Given the description of an element on the screen output the (x, y) to click on. 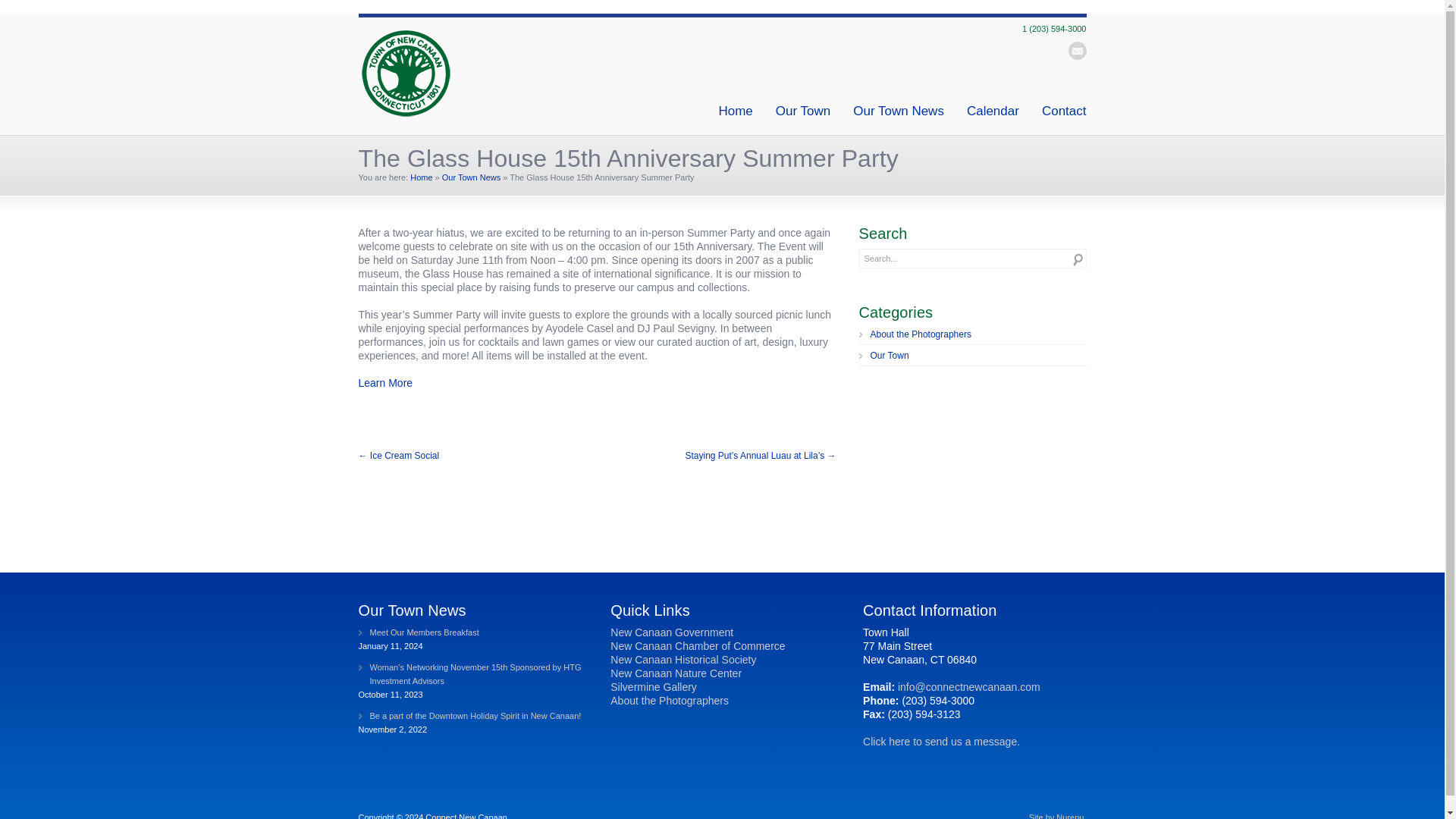
New Canaan Government (671, 632)
Our Town News (898, 111)
Our Town (972, 357)
Site by Nurenu. (1057, 816)
Silvermine Gallery (653, 686)
New Canaan Nature Center (675, 673)
Contact (1063, 111)
New Canaan Chamber of Commerce (697, 645)
Be a part of the Downtown Holiday Spirit in New Canaan! (469, 715)
About the Photographers (669, 700)
